Given the description of an element on the screen output the (x, y) to click on. 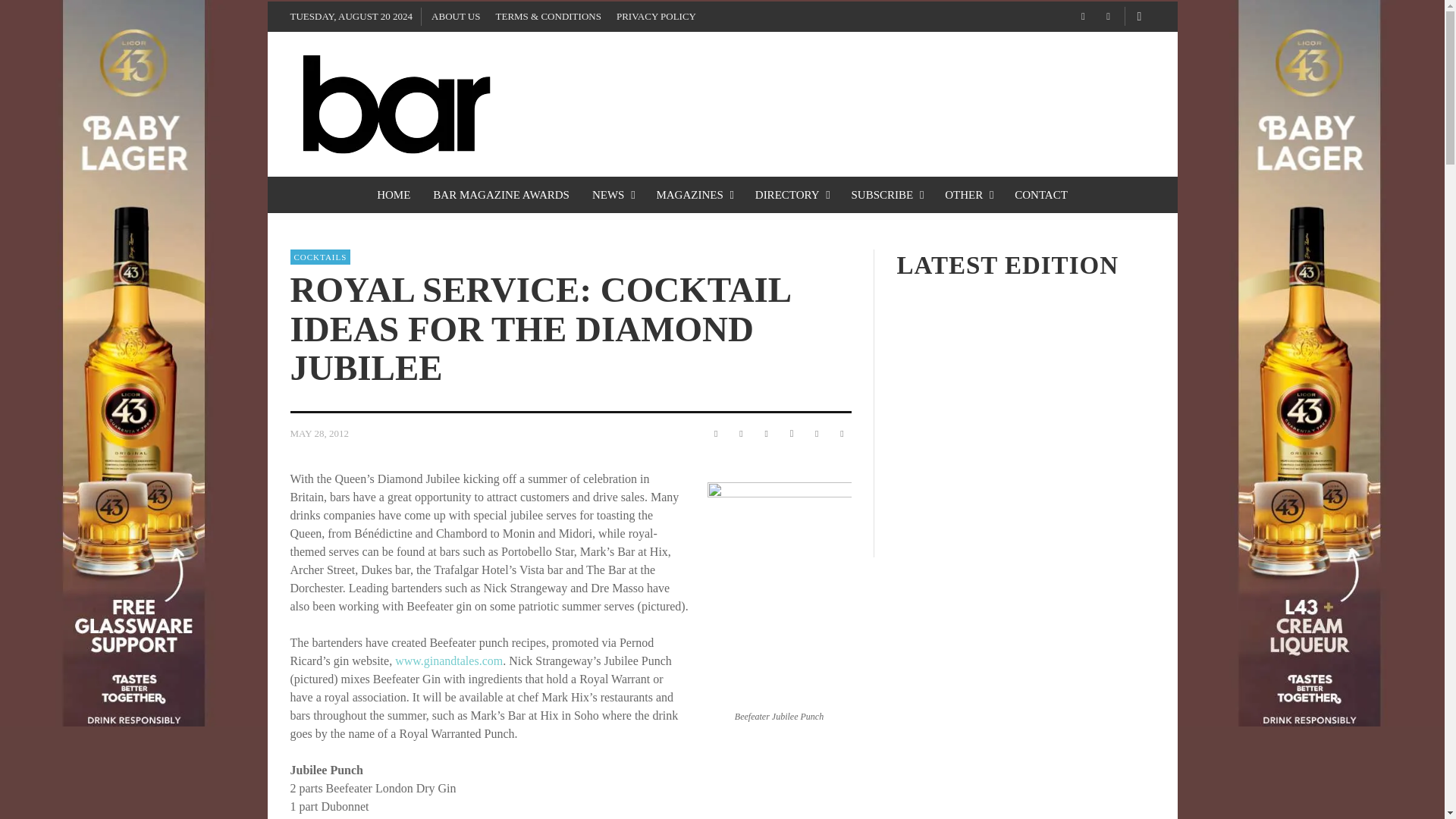
NEWS (612, 194)
HOME (393, 194)
BAR MAGAZINE AWARDS (501, 194)
ABOUT US (455, 16)
View all posts in Cocktails (319, 256)
MAGAZINES (693, 194)
PRIVACY POLICY (655, 16)
